Given the description of an element on the screen output the (x, y) to click on. 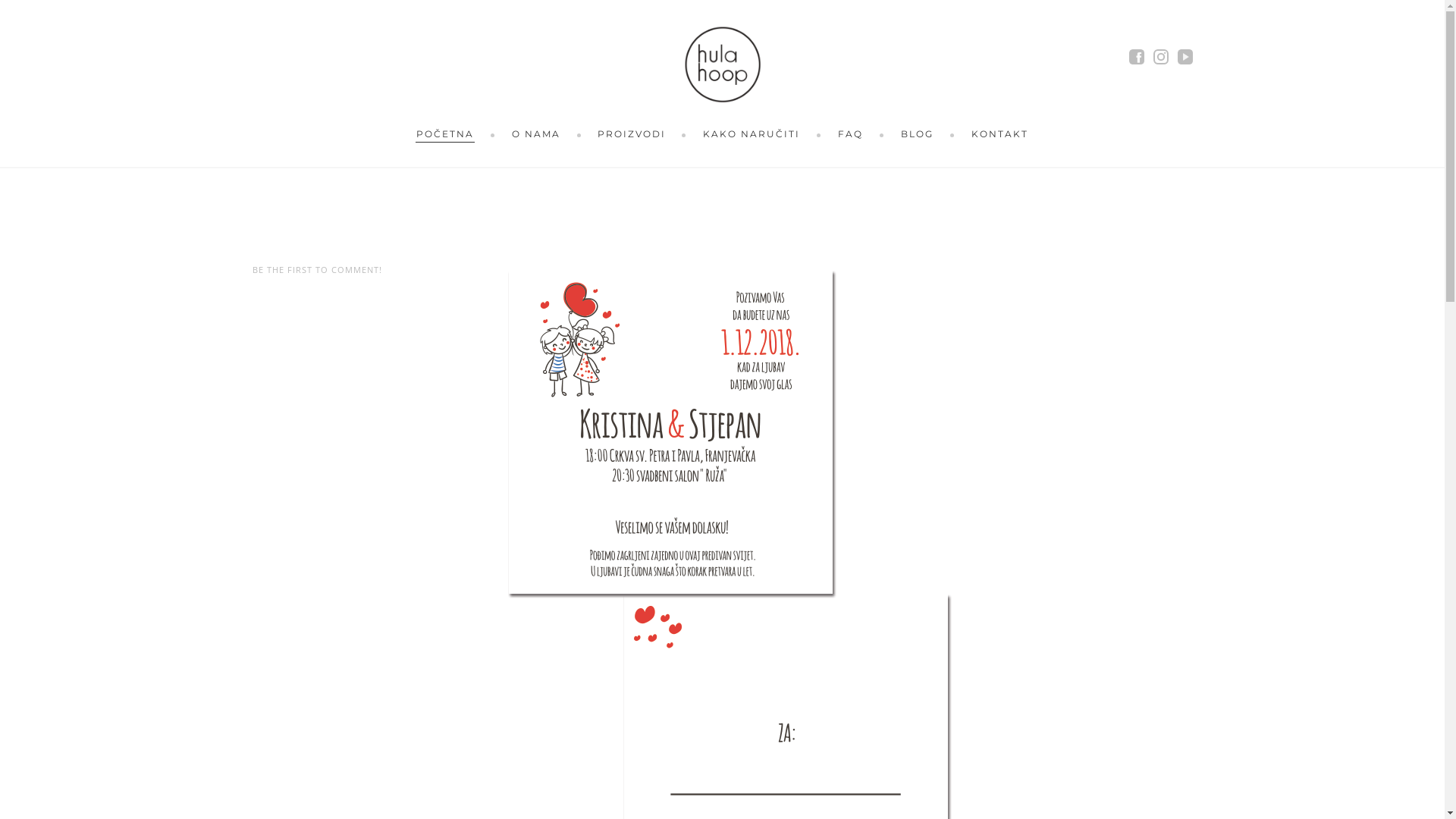
O NAMA Element type: text (536, 133)
BLOG Element type: text (917, 133)
BE THE FIRST TO COMMENT! Element type: text (316, 269)
FAQ Element type: text (850, 133)
KONTAKT Element type: text (999, 133)
